Given the description of an element on the screen output the (x, y) to click on. 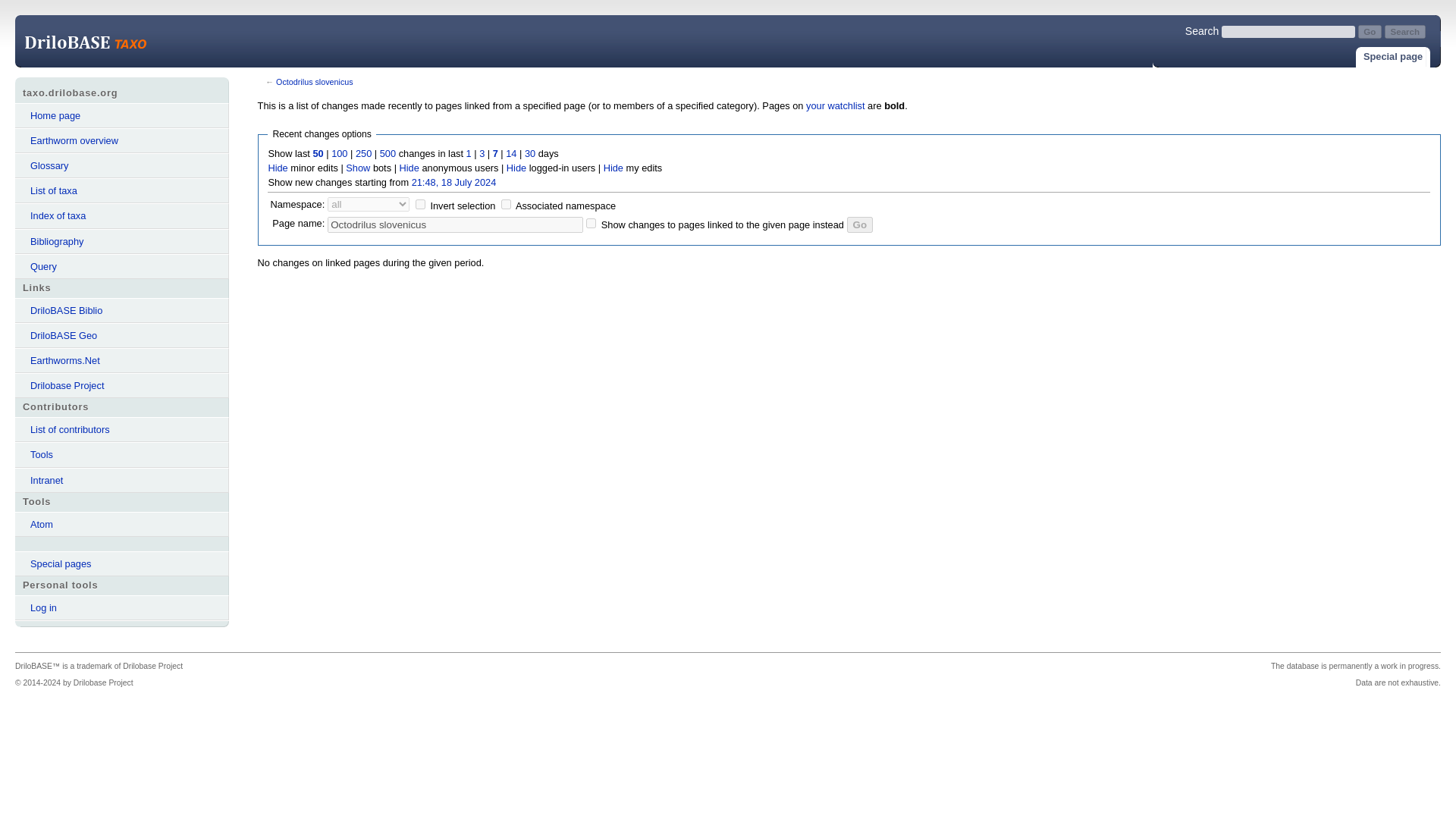
500 (388, 153)
Go (860, 224)
7 (495, 153)
DriloBASE Biblio (121, 310)
Hide (515, 167)
Earthworms.Net (121, 360)
30 (529, 153)
Hide (613, 167)
Special pages (121, 563)
Special:RecentChangesLinked (468, 153)
Query (121, 266)
Octodrilus slovenicus (455, 224)
Go to a page with this exact name if exists (1369, 31)
3 (481, 153)
